Given the description of an element on the screen output the (x, y) to click on. 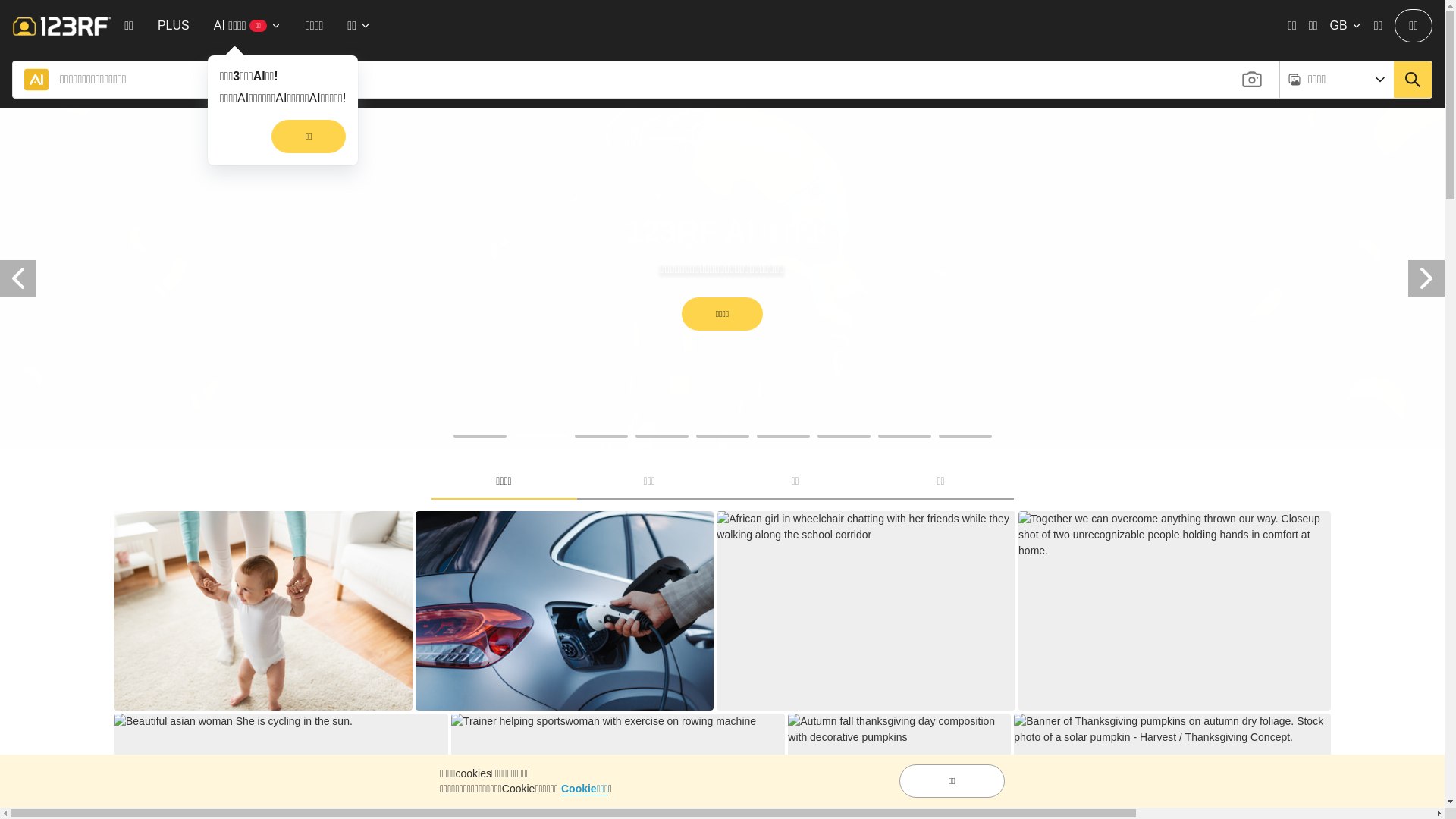
Beautiful asian woman She is cycling in the sun. Element type: hover (232, 721)
PLUS Element type: text (173, 25)
Trainer helping sportswoman with exercise on rowing machine Element type: hover (603, 721)
